Given the description of an element on the screen output the (x, y) to click on. 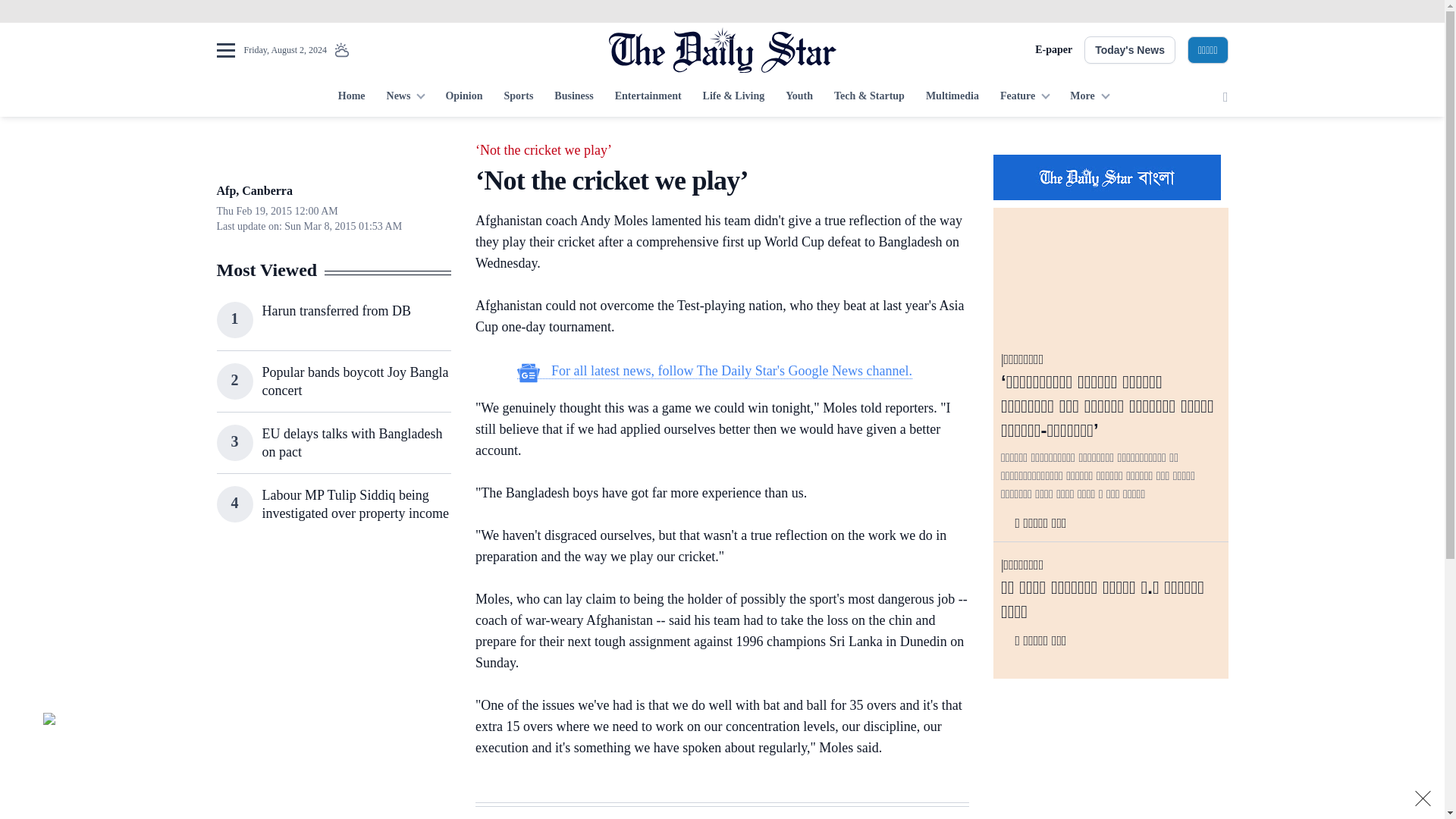
Feature (1024, 96)
Business (573, 96)
E-paper (1053, 49)
Today's News (1129, 49)
Home (351, 96)
Youth (799, 96)
News (405, 96)
Opinion (463, 96)
Sports (518, 96)
Entertainment (647, 96)
Multimedia (952, 96)
